Given the description of an element on the screen output the (x, y) to click on. 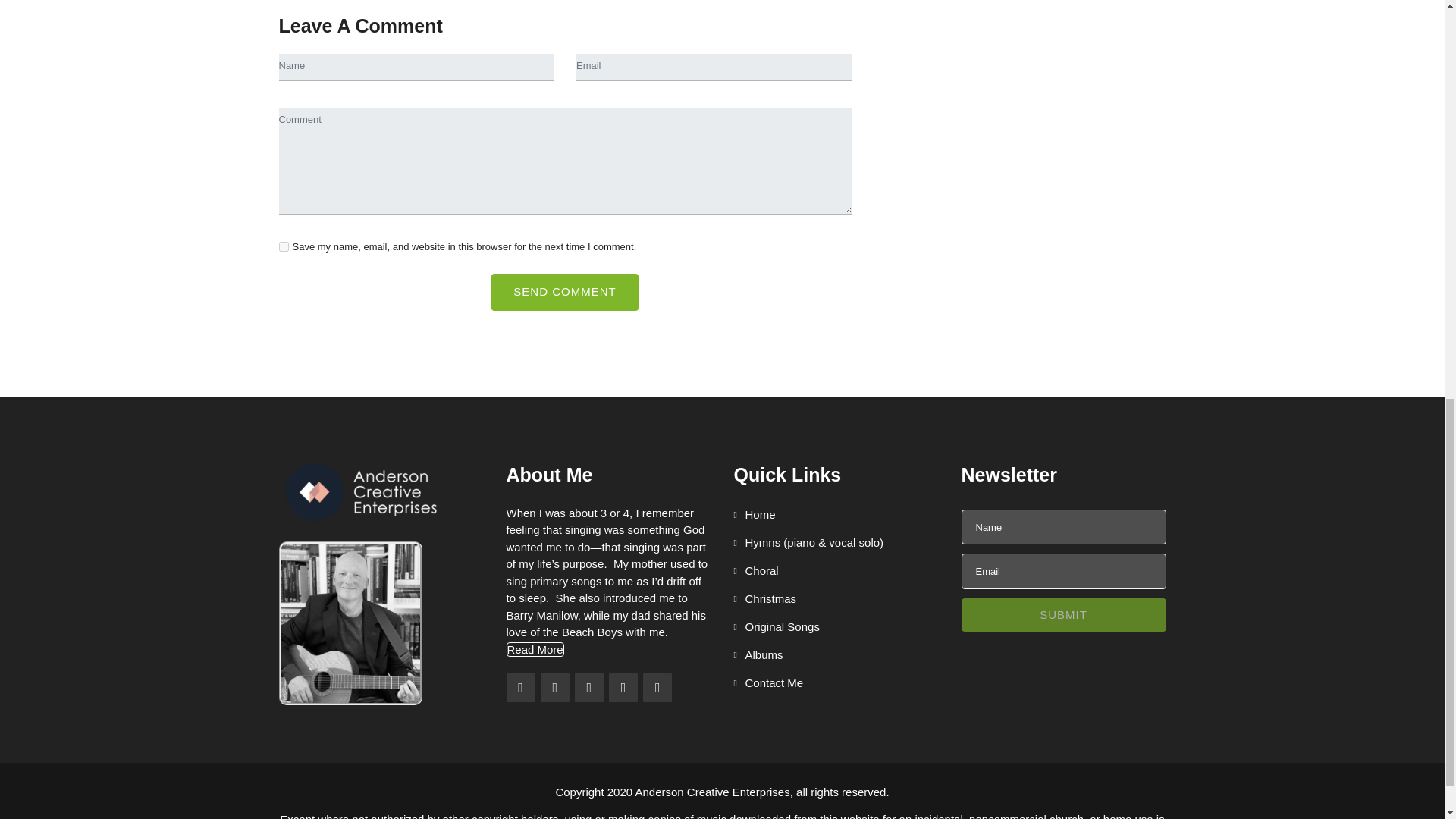
Send comment (564, 292)
Choral (755, 570)
Send comment (564, 292)
yes (283, 246)
Read More (535, 649)
Home (754, 514)
Contact Me (768, 682)
Christmas (764, 598)
Albums (758, 655)
Original Songs (776, 627)
Submit (1063, 615)
Submit (1063, 615)
